Given the description of an element on the screen output the (x, y) to click on. 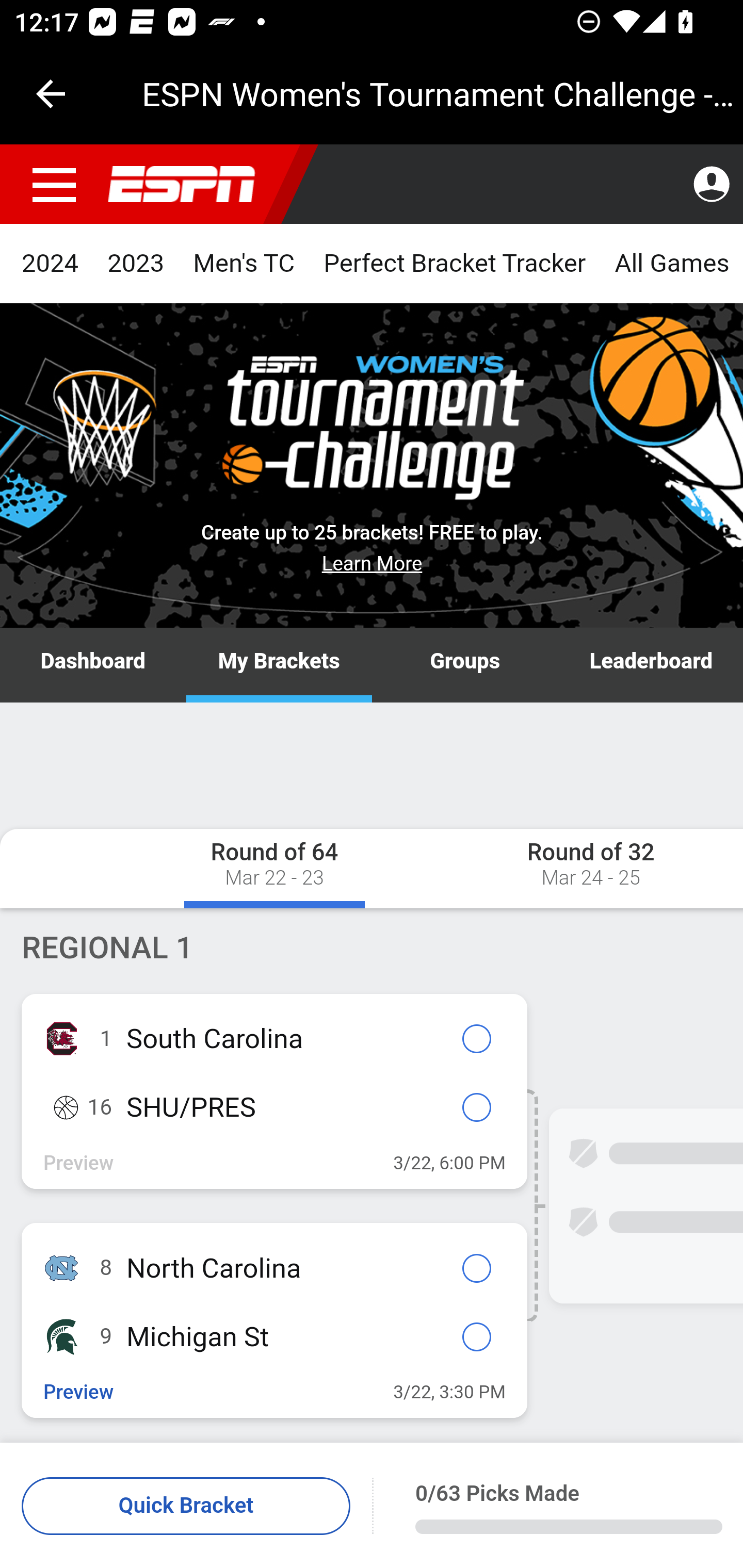
Navigate up (50, 93)
Menu (54, 184)
nav.arialabel.homepage (182, 184)
Profile Management (711, 184)
2024 (50, 264)
2023 (136, 264)
Men's TC (243, 264)
Perfect Bracket Tracker (454, 264)
All Games (671, 264)
Learn More (372, 563)
Dashboard Dashboard Dashboard (93, 666)
My Brackets My Brackets My Brackets (278, 666)
Groups Groups Groups (465, 666)
Leaderboard Leaderboard Leaderboard (649, 666)
Round of 64 Mar 22 - 23 (274, 867)
Round of 32 Mar 24 - 25 (540, 867)
Preview (79, 1392)
Quick Bracket (186, 1506)
